Given the description of an element on the screen output the (x, y) to click on. 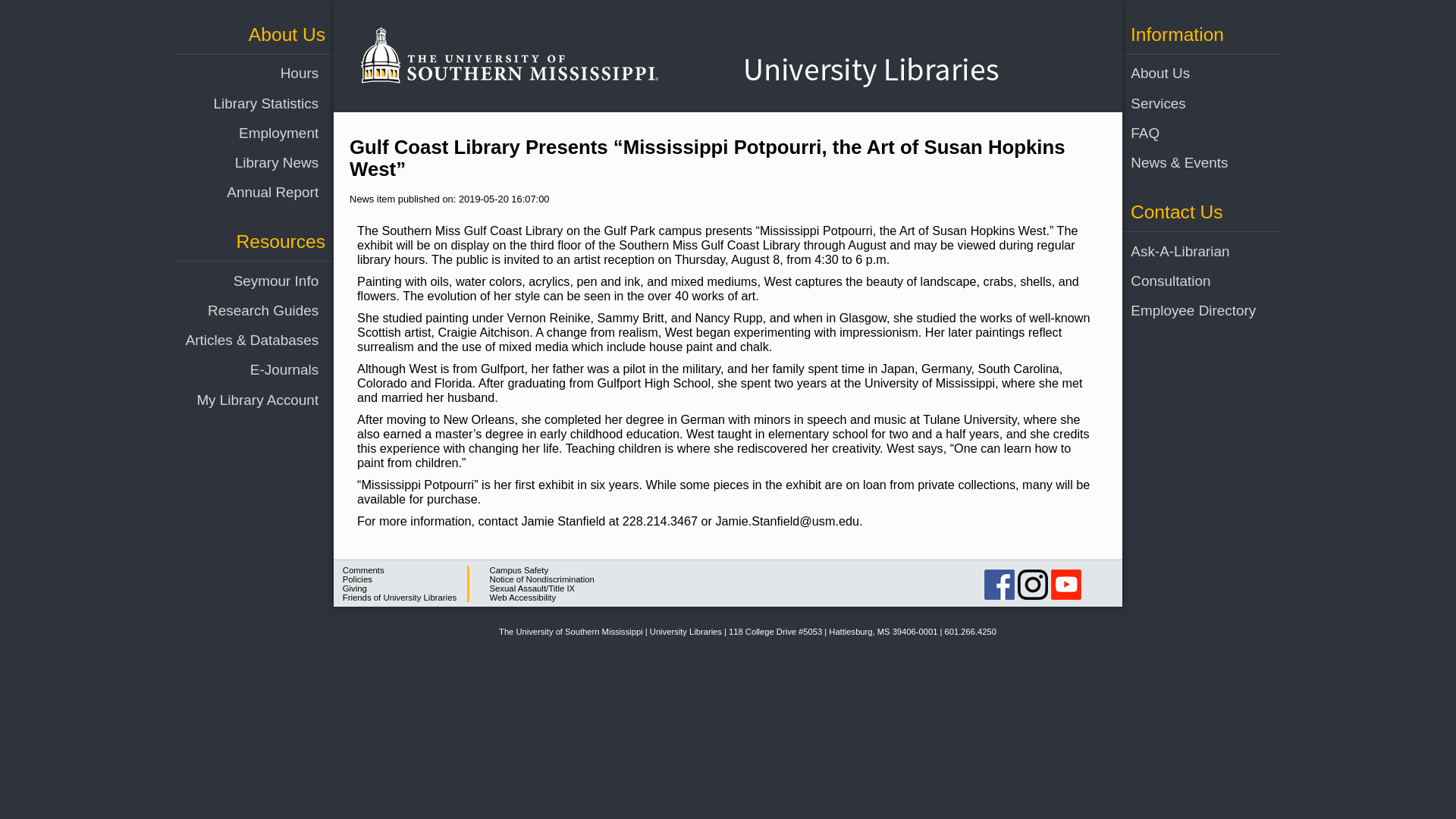
Research Guides (241, 310)
Cook Library on Facebook (999, 584)
E-Journals (241, 369)
Services (1186, 102)
Youtube (1066, 584)
Employment (241, 132)
Link to Friends of University Libraries (399, 596)
Ask-A-Librarian (1186, 251)
About Us (1186, 72)
Link to Donations (354, 587)
Annual Report (241, 192)
Consultation (1186, 280)
Seymour Info (241, 280)
Library News (241, 162)
Hours (241, 72)
